Given the description of an element on the screen output the (x, y) to click on. 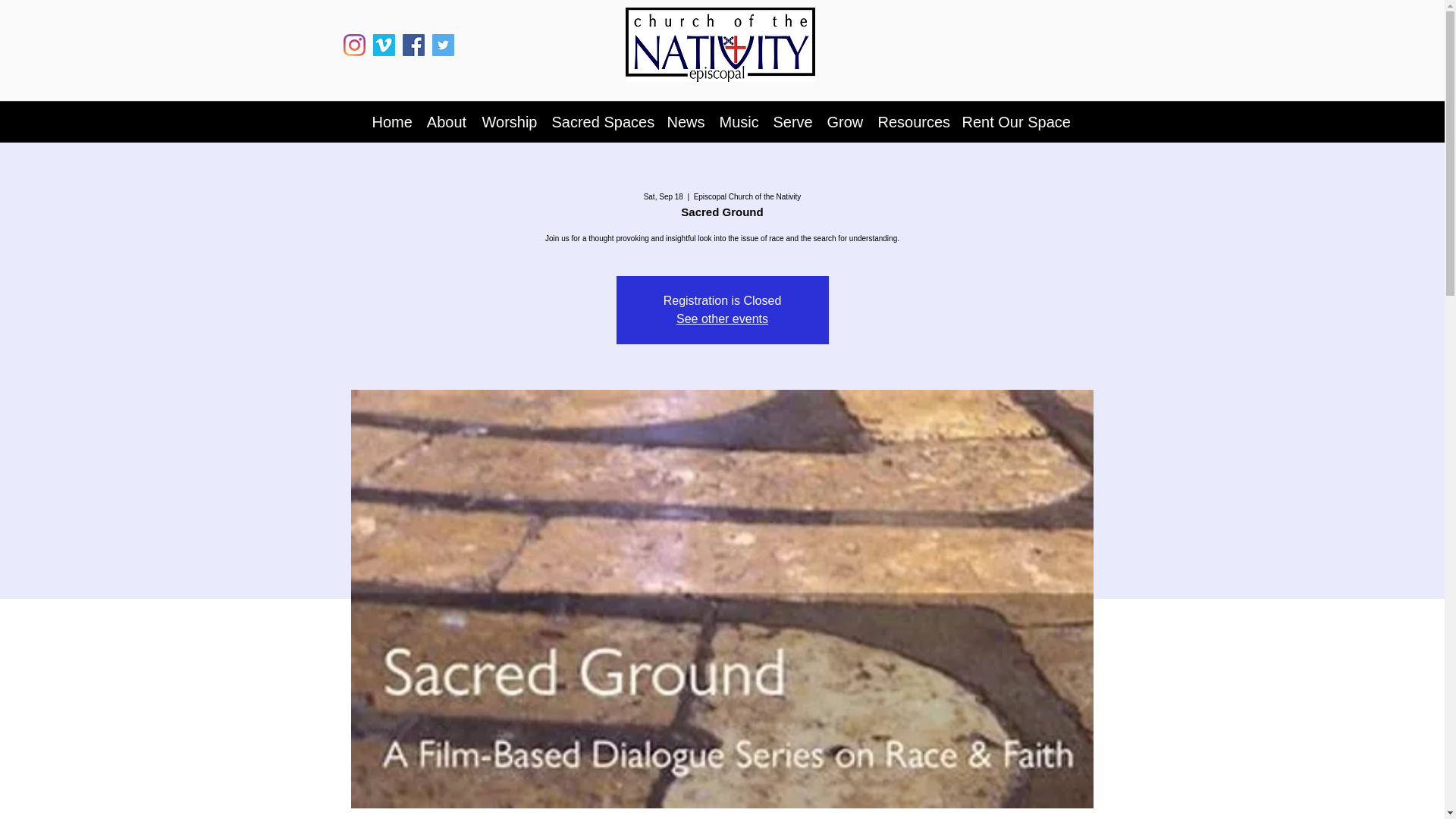
Resources (912, 121)
Grow (843, 121)
Worship (509, 121)
See other events (722, 318)
Sacred Spaces (601, 121)
Music (738, 121)
Home (391, 121)
Rent Our Space (1013, 121)
